Given the description of an element on the screen output the (x, y) to click on. 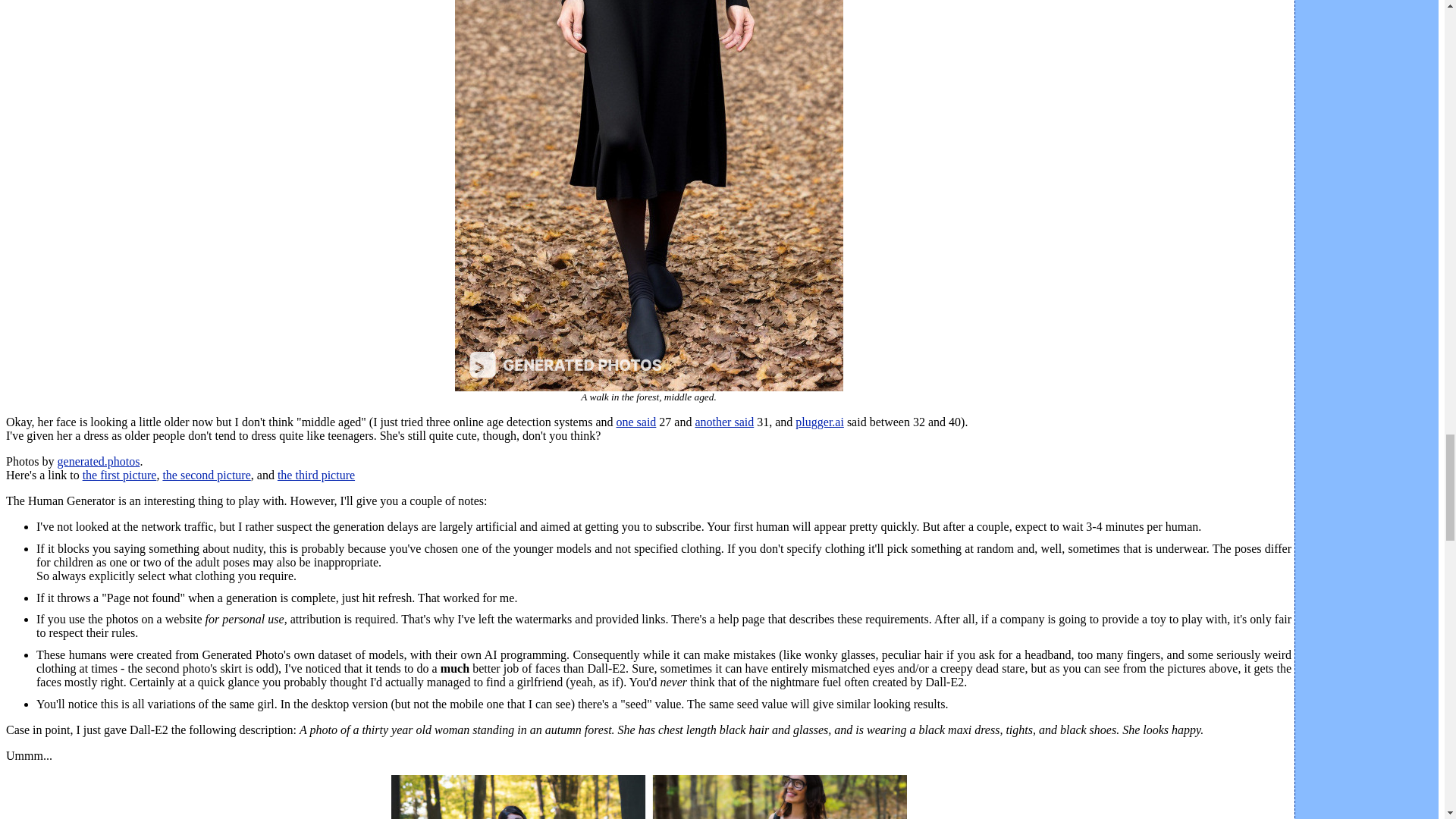
the second picture (205, 474)
another said (724, 421)
generated.photos (98, 461)
plugger.ai (819, 421)
one said (635, 421)
the third picture (316, 474)
the first picture (119, 474)
